Given the description of an element on the screen output the (x, y) to click on. 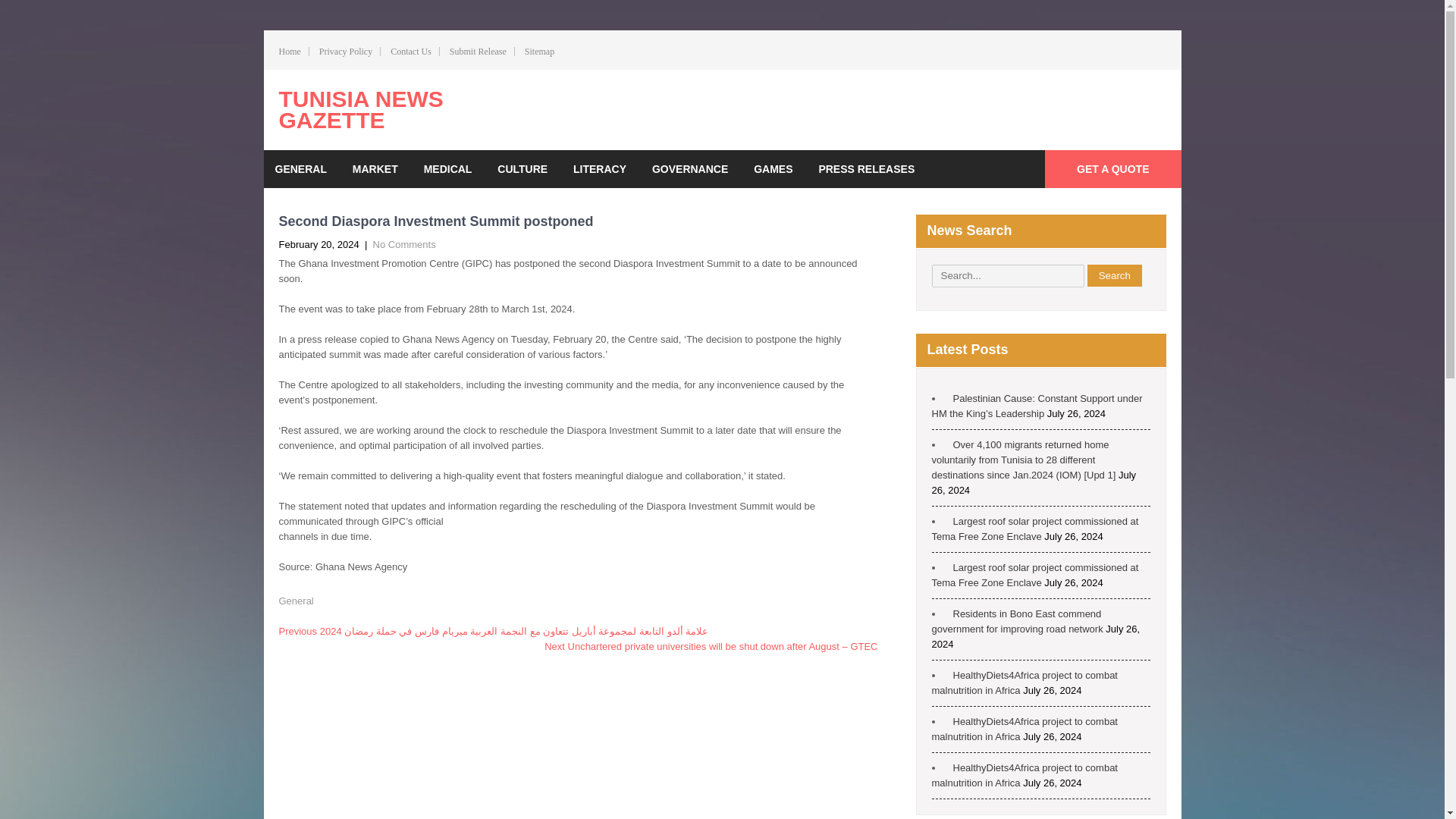
Sitemap (539, 51)
HealthyDiets4Africa project to combat malnutrition in Africa (1023, 728)
Contact Us (410, 51)
Advertisement (988, 107)
LITERACY (599, 168)
GET A QUOTE (1112, 168)
General (296, 600)
GENERAL (300, 168)
Search (1114, 275)
Privacy Policy (345, 51)
HealthyDiets4Africa project to combat malnutrition in Africa (1023, 775)
MARKET (374, 168)
Submit Release (477, 51)
Search (1114, 275)
